Given the description of an element on the screen output the (x, y) to click on. 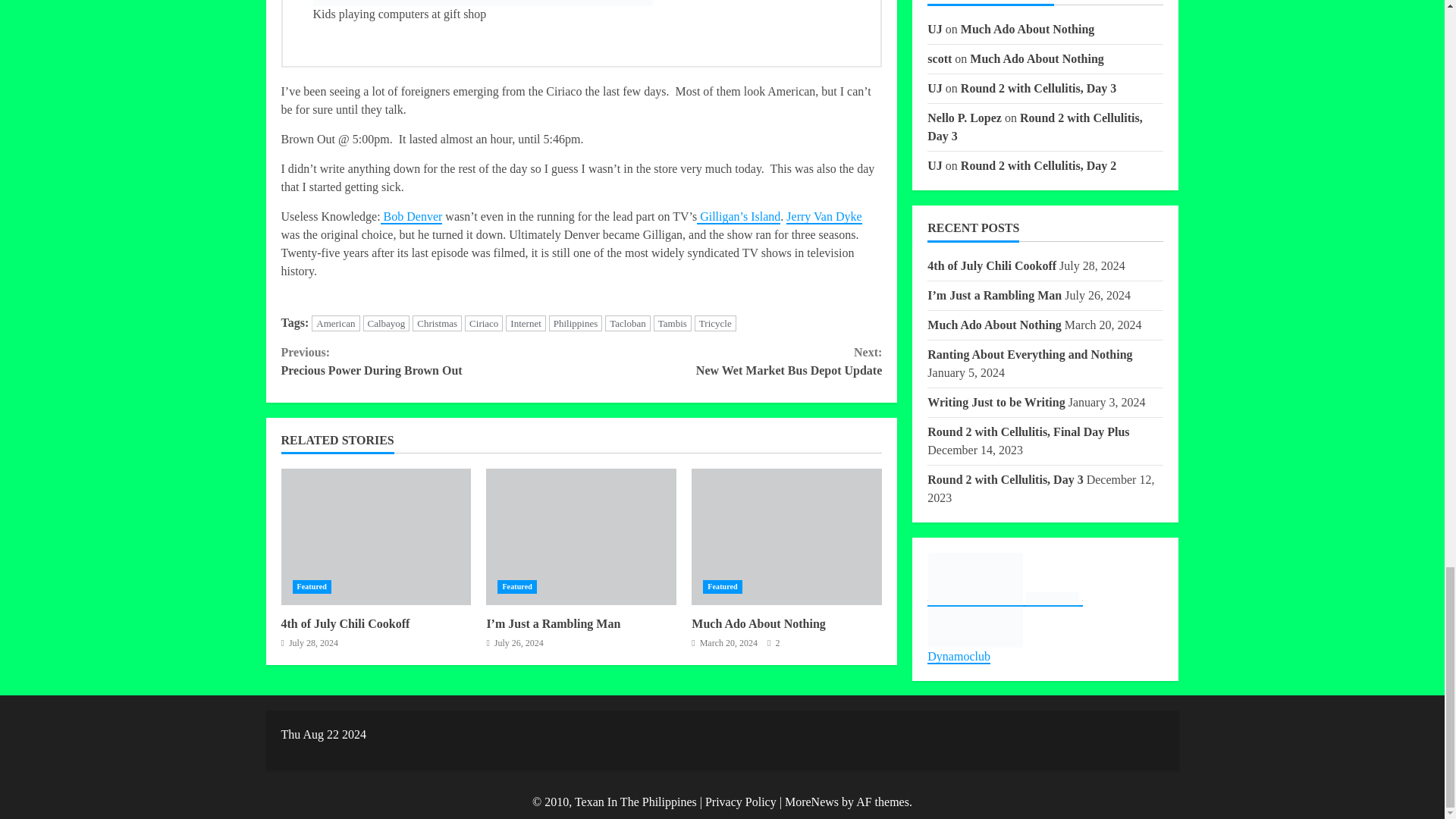
Gilligan's Island (738, 216)
Bob Denver Bio (411, 216)
Jerry Van Dyke Bio (823, 216)
Kids playing computers at gift shop (482, 2)
